Given the description of an element on the screen output the (x, y) to click on. 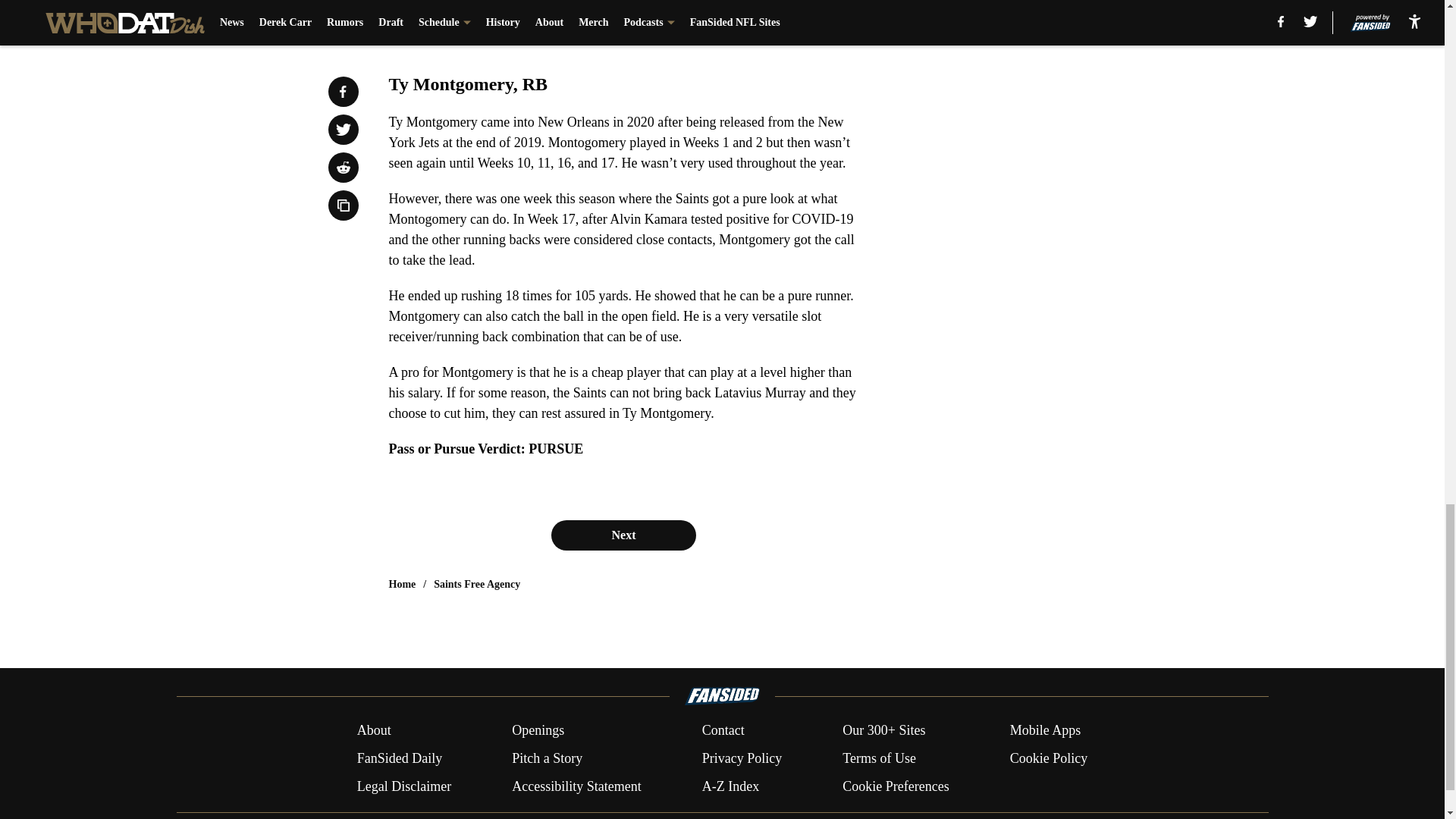
Mobile Apps (1045, 730)
Next (622, 535)
Contact (722, 730)
Saints Free Agency (476, 584)
Home (401, 584)
About (373, 730)
Privacy Policy (742, 758)
FanSided Daily (399, 758)
Pitch a Story (547, 758)
Terms of Use (879, 758)
